Given the description of an element on the screen output the (x, y) to click on. 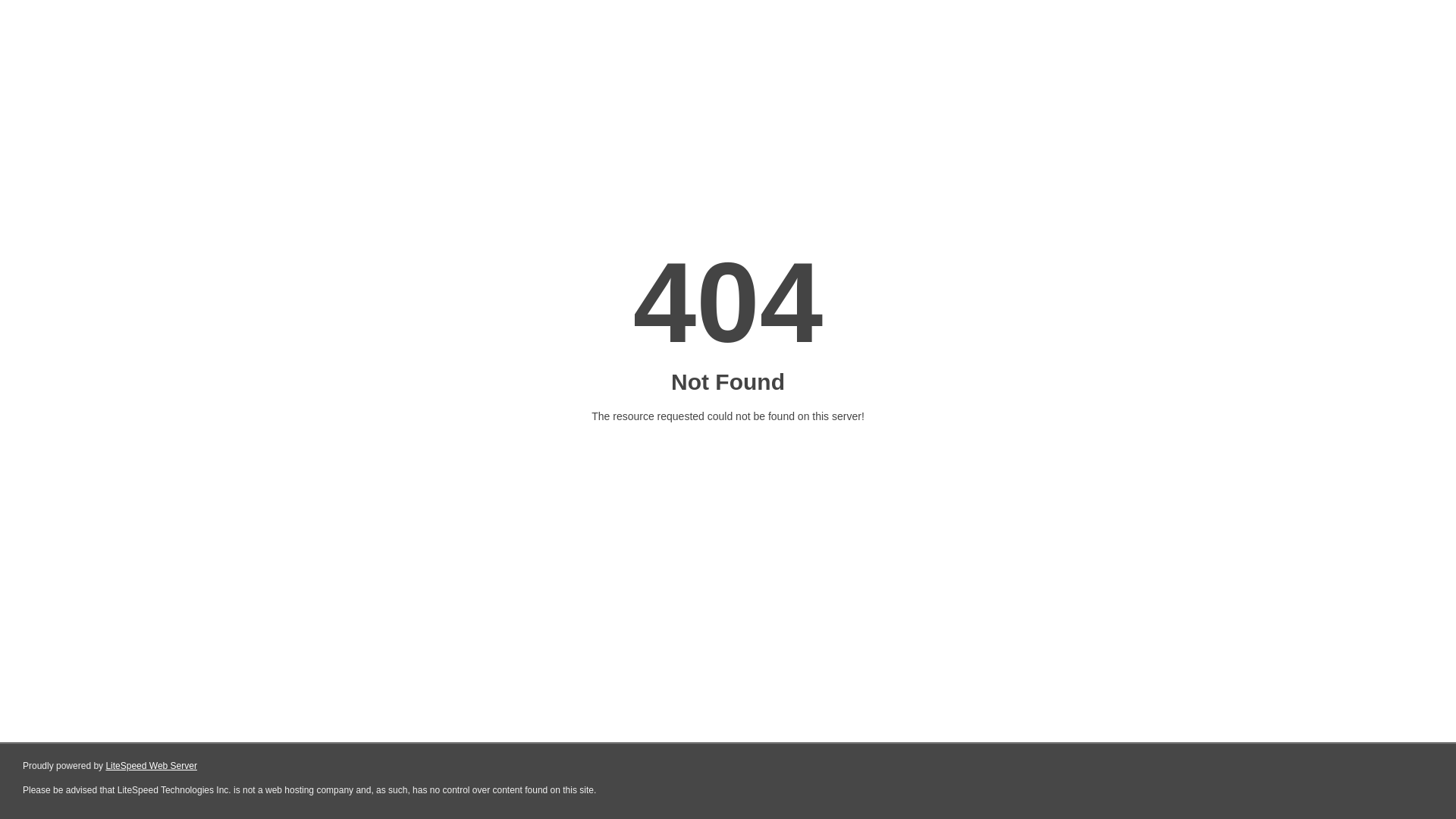
LiteSpeed Web Server Element type: text (151, 765)
